Given the description of an element on the screen output the (x, y) to click on. 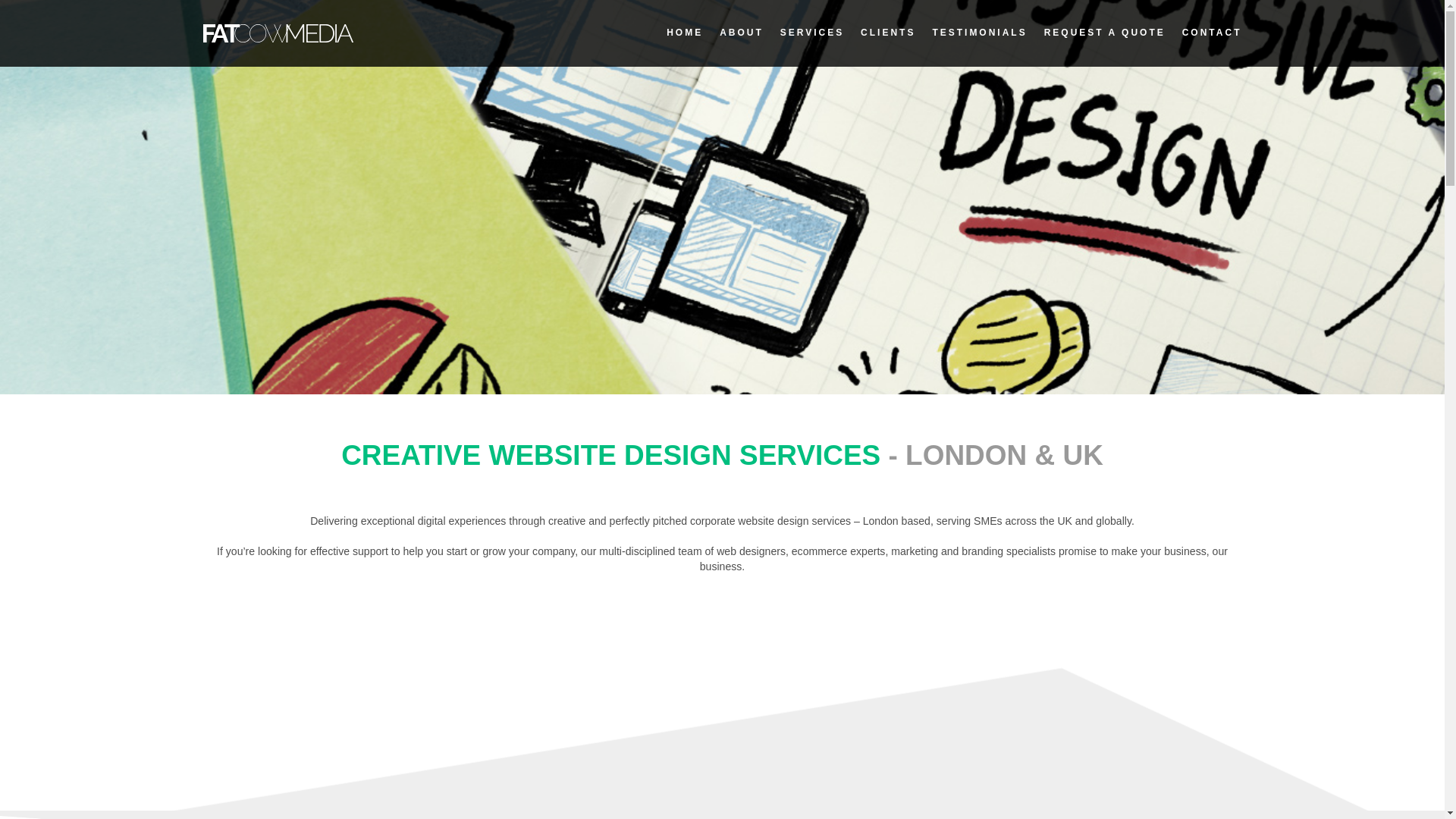
SERVICES (812, 32)
CONTACT (1211, 32)
REQUEST A QUOTE (1104, 32)
ABOUT (740, 32)
CLIENTS (887, 32)
HOME (684, 32)
TESTIMONIALS (978, 32)
